Given the description of an element on the screen output the (x, y) to click on. 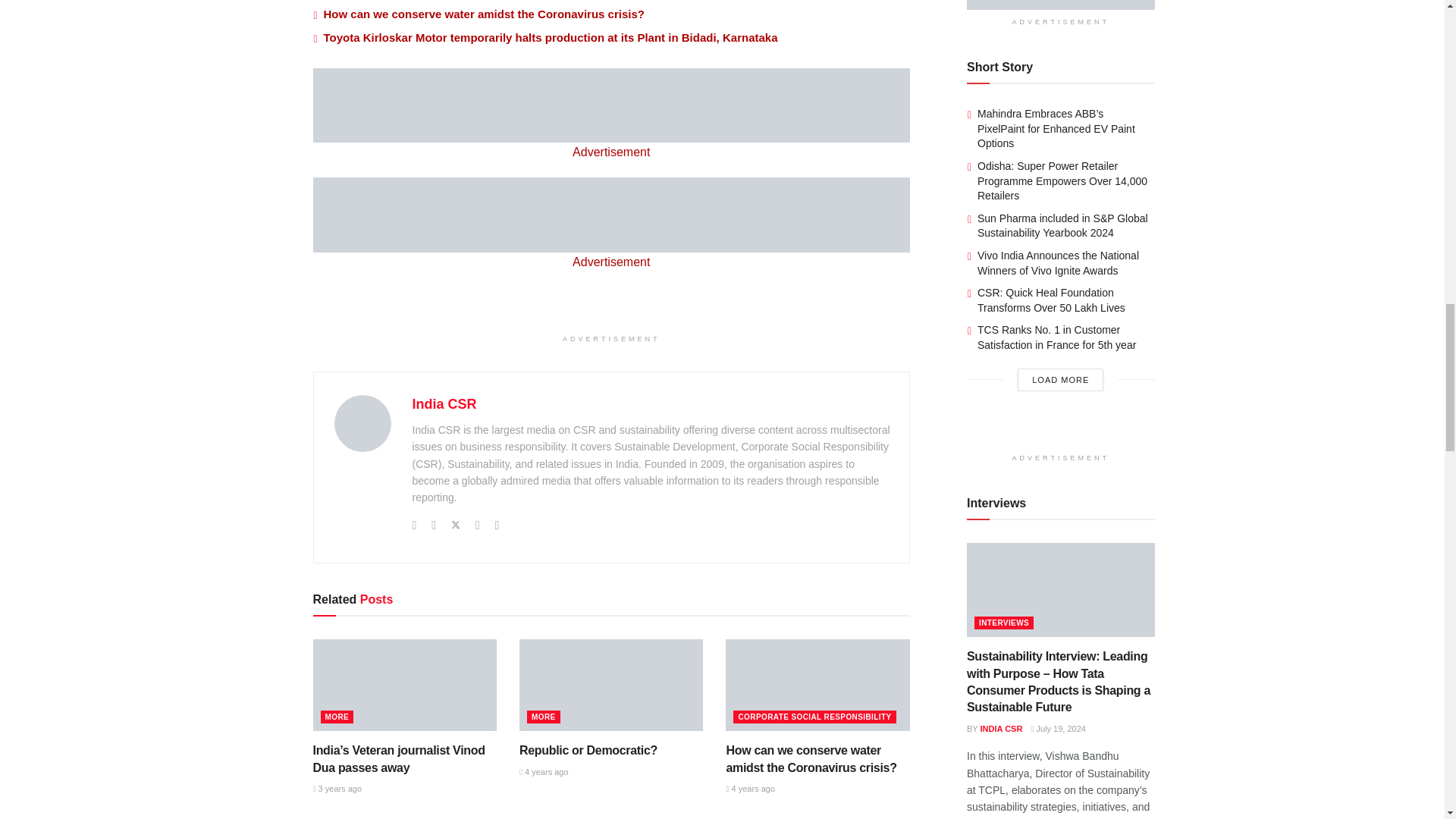
Republic or Democratic? 4 (611, 685)
India's Veteran journalist Vinod Dua passes away 3 (404, 685)
How can we conserve water amidst the Coronavirus crisis? 5 (816, 685)
